Given the description of an element on the screen output the (x, y) to click on. 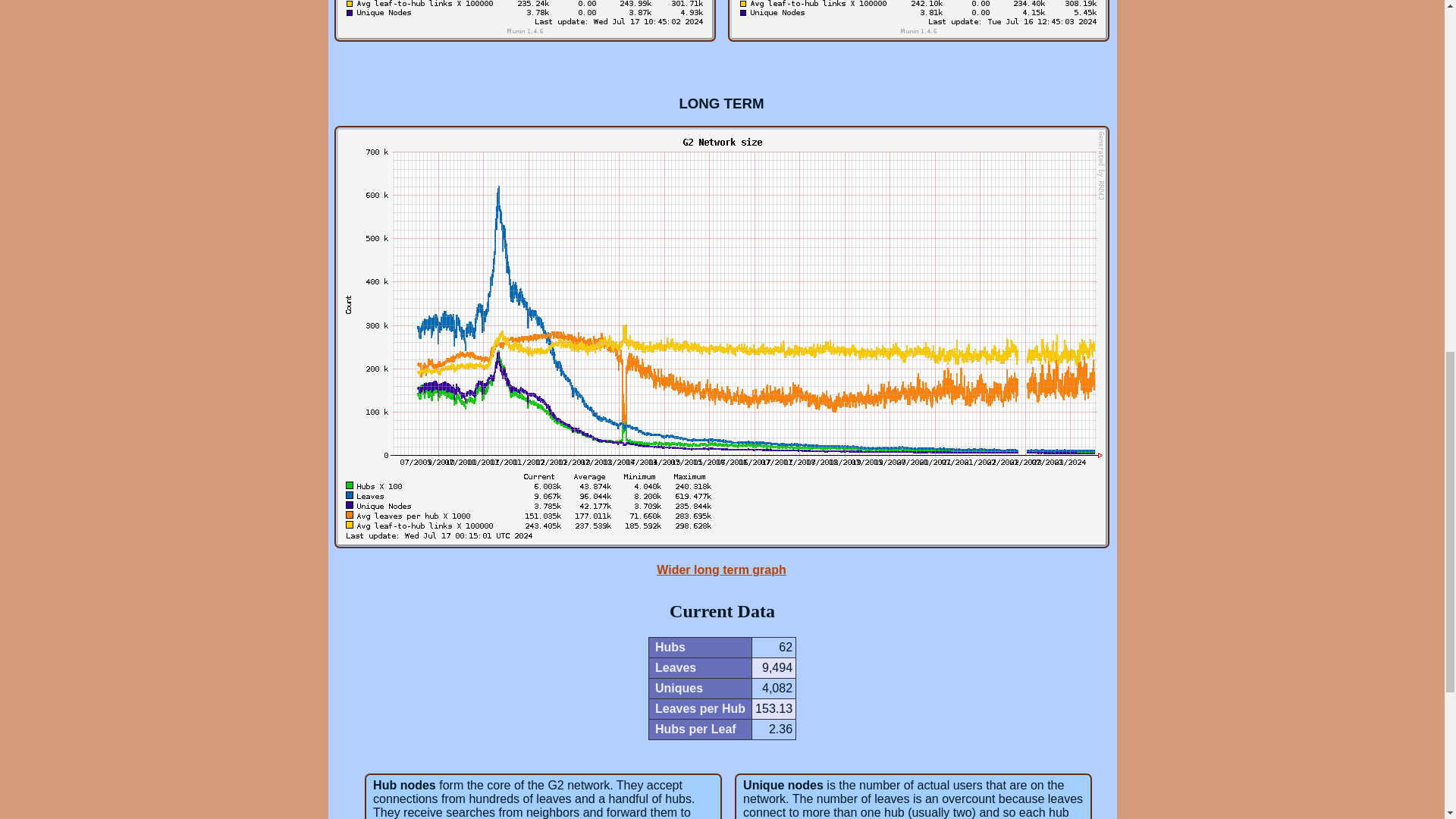
Wider long term graph (721, 569)
